Given the description of an element on the screen output the (x, y) to click on. 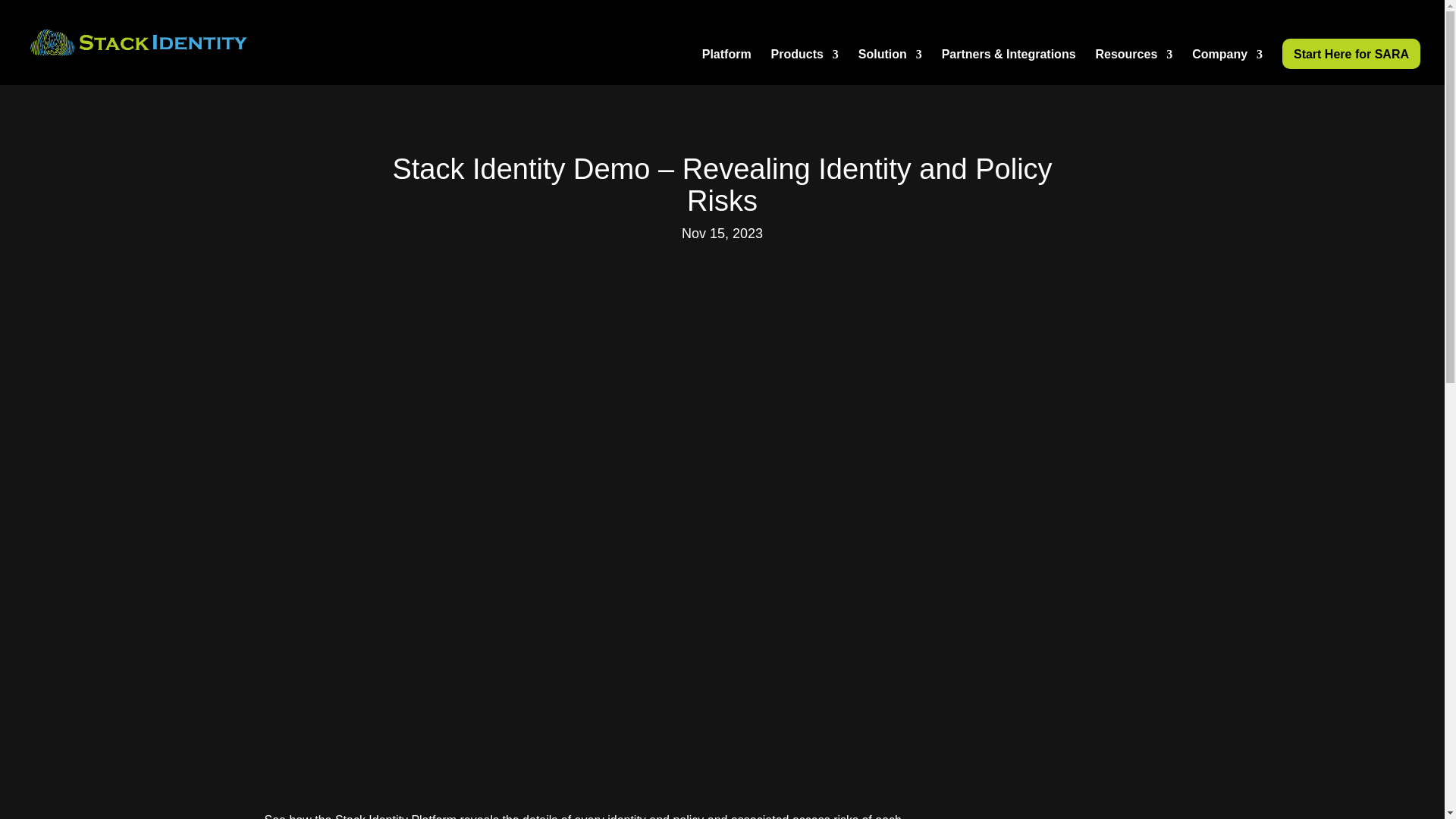
Start Here for SARA (1351, 53)
Resources (1133, 67)
Solution (890, 67)
Products (804, 67)
Platform (726, 67)
Company (1227, 67)
